Given the description of an element on the screen output the (x, y) to click on. 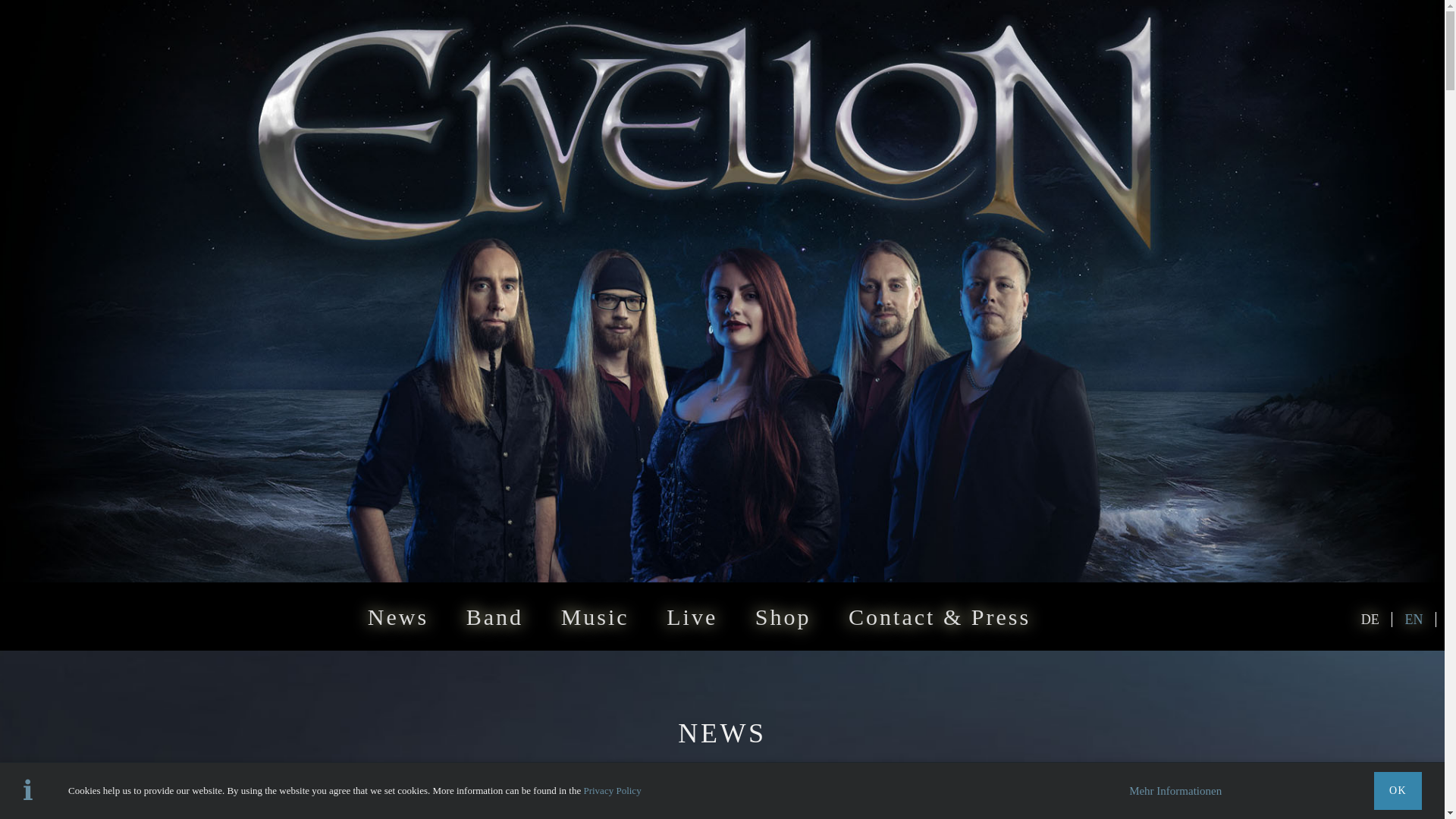
Elvellon (1376, 619)
Band (493, 616)
Live (691, 616)
OK (1398, 790)
Mehr Informationen (1175, 790)
Privacy Policy (611, 790)
News (398, 616)
DE (1376, 619)
Music (594, 616)
Shop (783, 616)
